Given the description of an element on the screen output the (x, y) to click on. 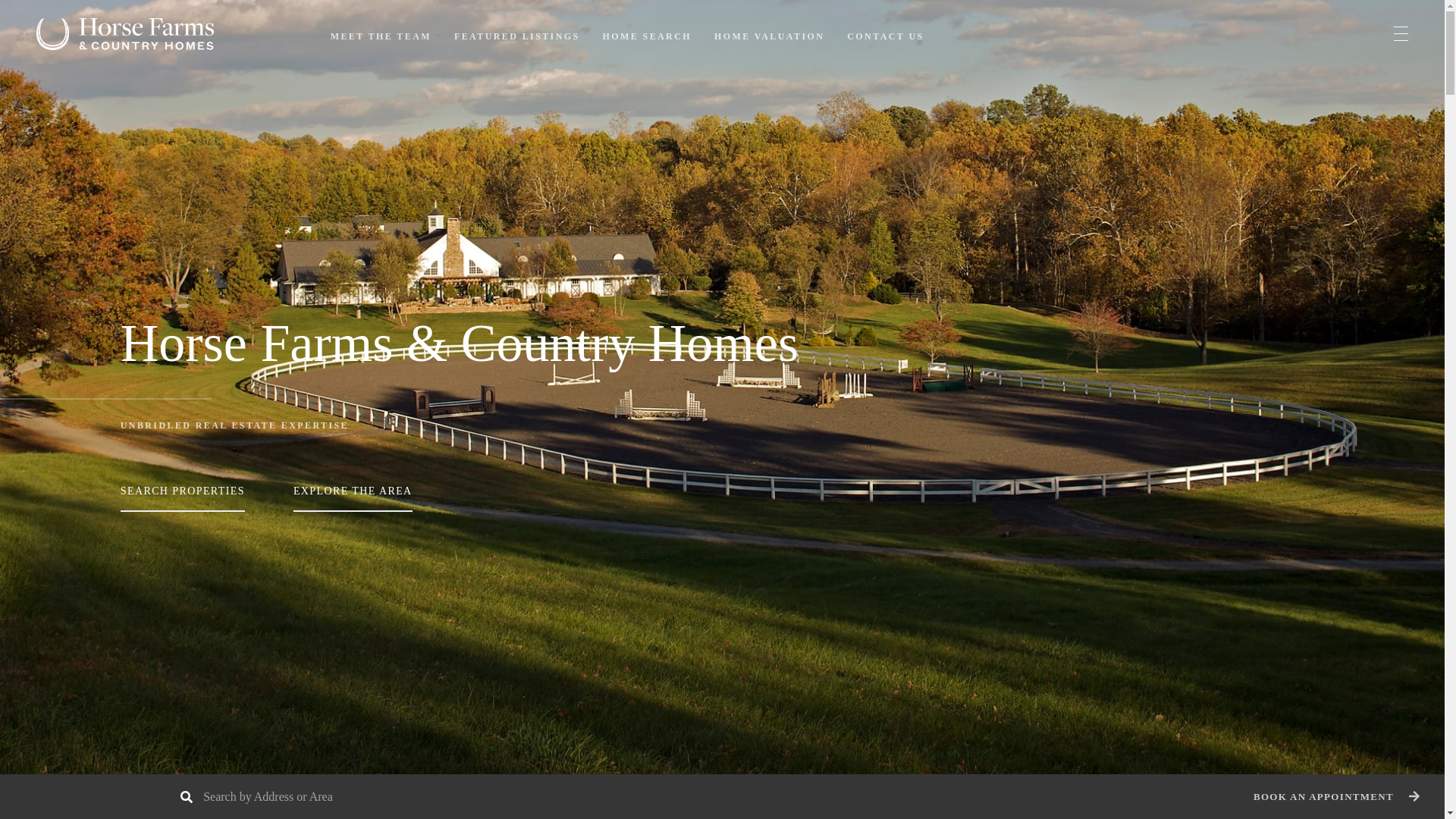
HOME SEARCH (646, 36)
HOME VALUATION (769, 36)
FEATURED LISTINGS (516, 36)
SEARCH PROPERTIES (185, 497)
MEET THE TEAM (380, 36)
CONTACT US (885, 36)
EXPLORE THE AREA (357, 497)
